Given the description of an element on the screen output the (x, y) to click on. 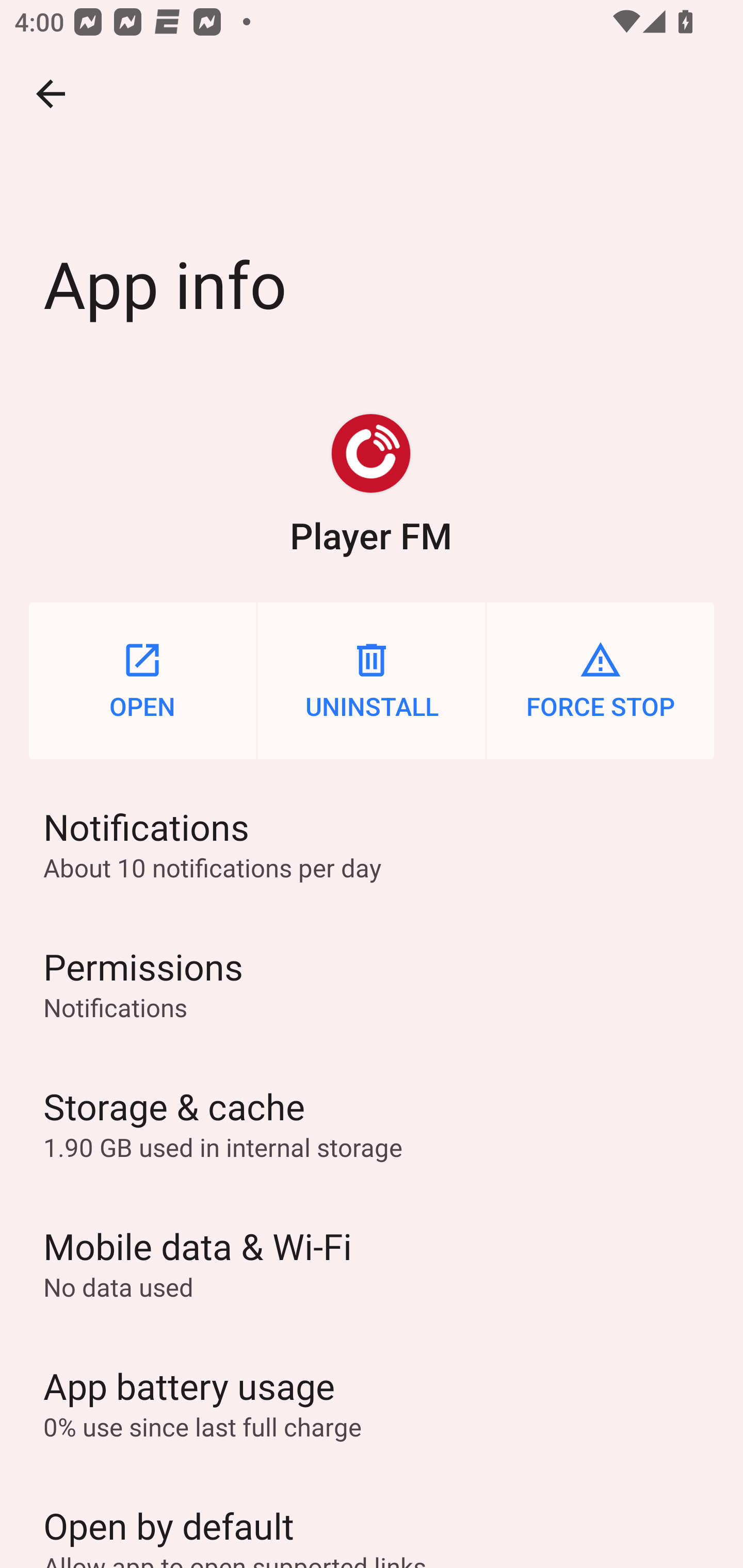
Navigate up (50, 93)
OPEN (141, 680)
UNINSTALL (371, 680)
FORCE STOP (600, 680)
Notifications About 10 notifications per day (371, 843)
Permissions Notifications (371, 983)
Storage & cache 1.90 GB used in internal storage (371, 1123)
Mobile data & Wi‑Fi No data used (371, 1262)
App battery usage 0% use since last full charge (371, 1402)
Open by default Allow app to open supported links (371, 1520)
